Given the description of an element on the screen output the (x, y) to click on. 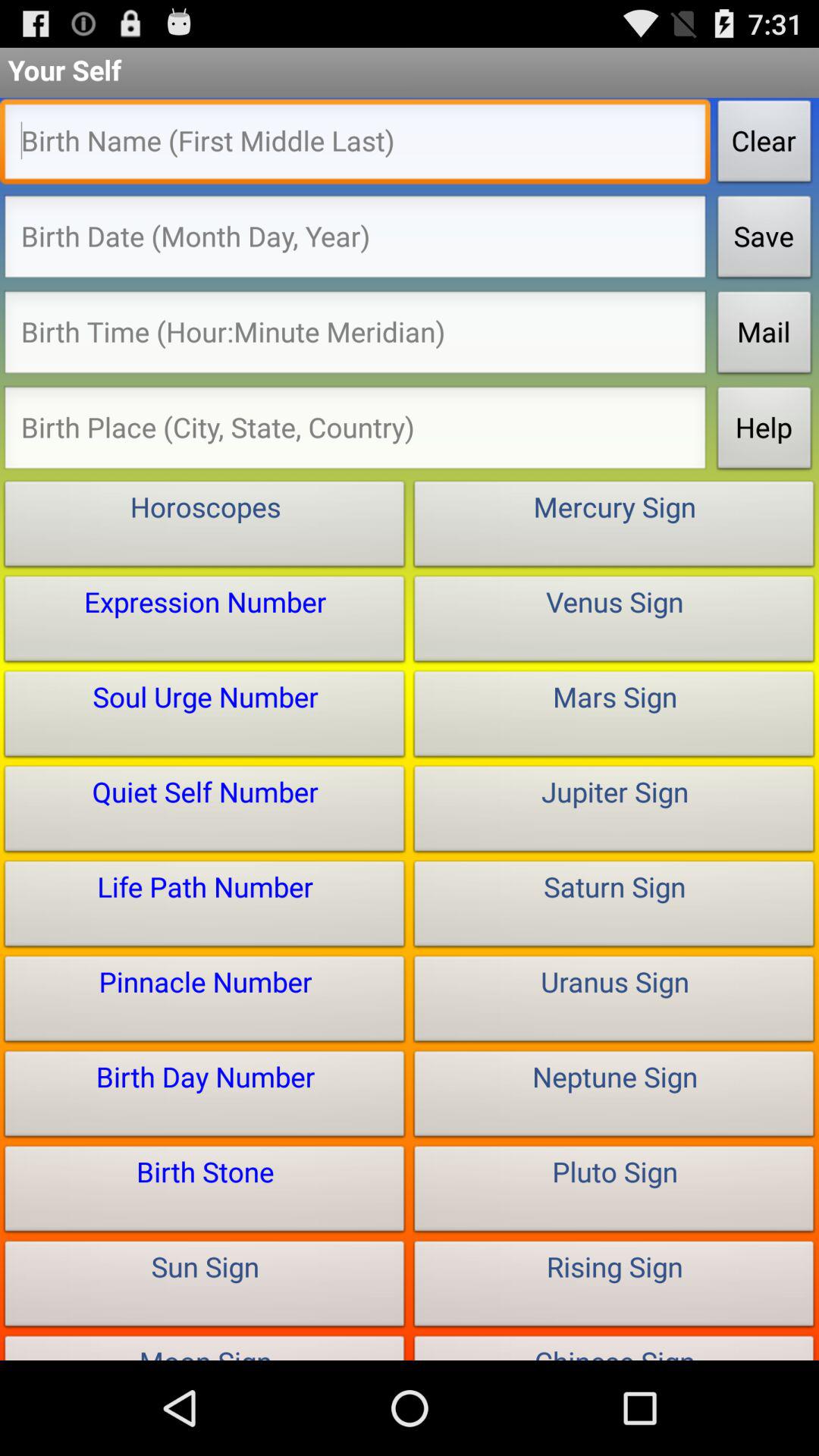
birth region (355, 432)
